Given the description of an element on the screen output the (x, y) to click on. 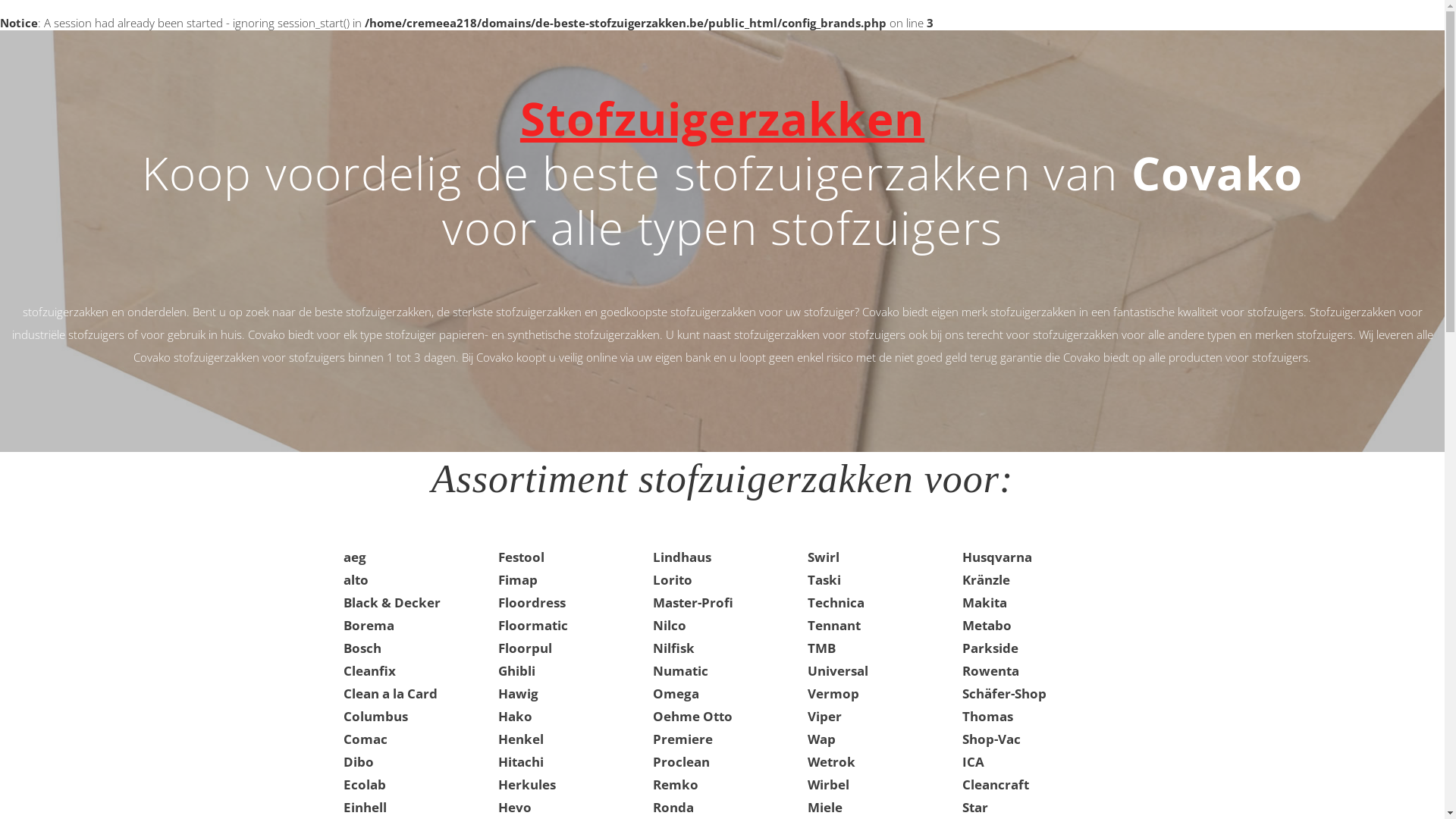
Hako Element type: text (514, 715)
Rowenta Element type: text (989, 670)
Numatic Element type: text (679, 670)
Shop-Vac Element type: text (990, 738)
Metabo Element type: text (985, 624)
Omega Element type: text (675, 693)
Ghibli Element type: text (515, 670)
Nilfisk Element type: text (672, 647)
Miele Element type: text (823, 806)
Comac Element type: text (364, 738)
Remko Element type: text (674, 784)
TMB Element type: text (820, 647)
Columbus Element type: text (374, 715)
Lindhaus Element type: text (681, 556)
Dibo Element type: text (357, 761)
Ecolab Element type: text (363, 784)
Fimap Element type: text (516, 579)
Taski Element type: text (823, 579)
Black & Decker Element type: text (390, 602)
Cleanfix Element type: text (368, 670)
Thomas Element type: text (986, 715)
Festool Element type: text (520, 556)
aeg Element type: text (353, 556)
Clean a la Card Element type: text (389, 693)
Wirbel Element type: text (827, 784)
Floordress Element type: text (530, 602)
Hawig Element type: text (517, 693)
Premiere Element type: text (682, 738)
Herkules Element type: text (526, 784)
Cleancraft Element type: text (994, 784)
alto Element type: text (354, 579)
Henkel Element type: text (519, 738)
Bosch Element type: text (361, 647)
Oehme Otto Element type: text (691, 715)
Wetrok Element type: text (830, 761)
Technica Element type: text (834, 602)
Einhell Element type: text (363, 806)
Husqvarna Element type: text (996, 556)
Master-Profi Element type: text (692, 602)
Viper Element type: text (823, 715)
Hitachi Element type: text (519, 761)
Floormatic Element type: text (532, 624)
Universal Element type: text (836, 670)
Vermop Element type: text (832, 693)
ICA Element type: text (972, 761)
Swirl Element type: text (822, 556)
Nilco Element type: text (668, 624)
Parkside Element type: text (989, 647)
Star Element type: text (974, 806)
Borema Element type: text (367, 624)
Makita Element type: text (983, 602)
Tennant Element type: text (832, 624)
Floorpul Element type: text (524, 647)
Stofzuigerzakken Element type: text (722, 118)
Lorito Element type: text (671, 579)
Ronda Element type: text (672, 806)
Wap Element type: text (820, 738)
Hevo Element type: text (513, 806)
Proclean Element type: text (680, 761)
